Given the description of an element on the screen output the (x, y) to click on. 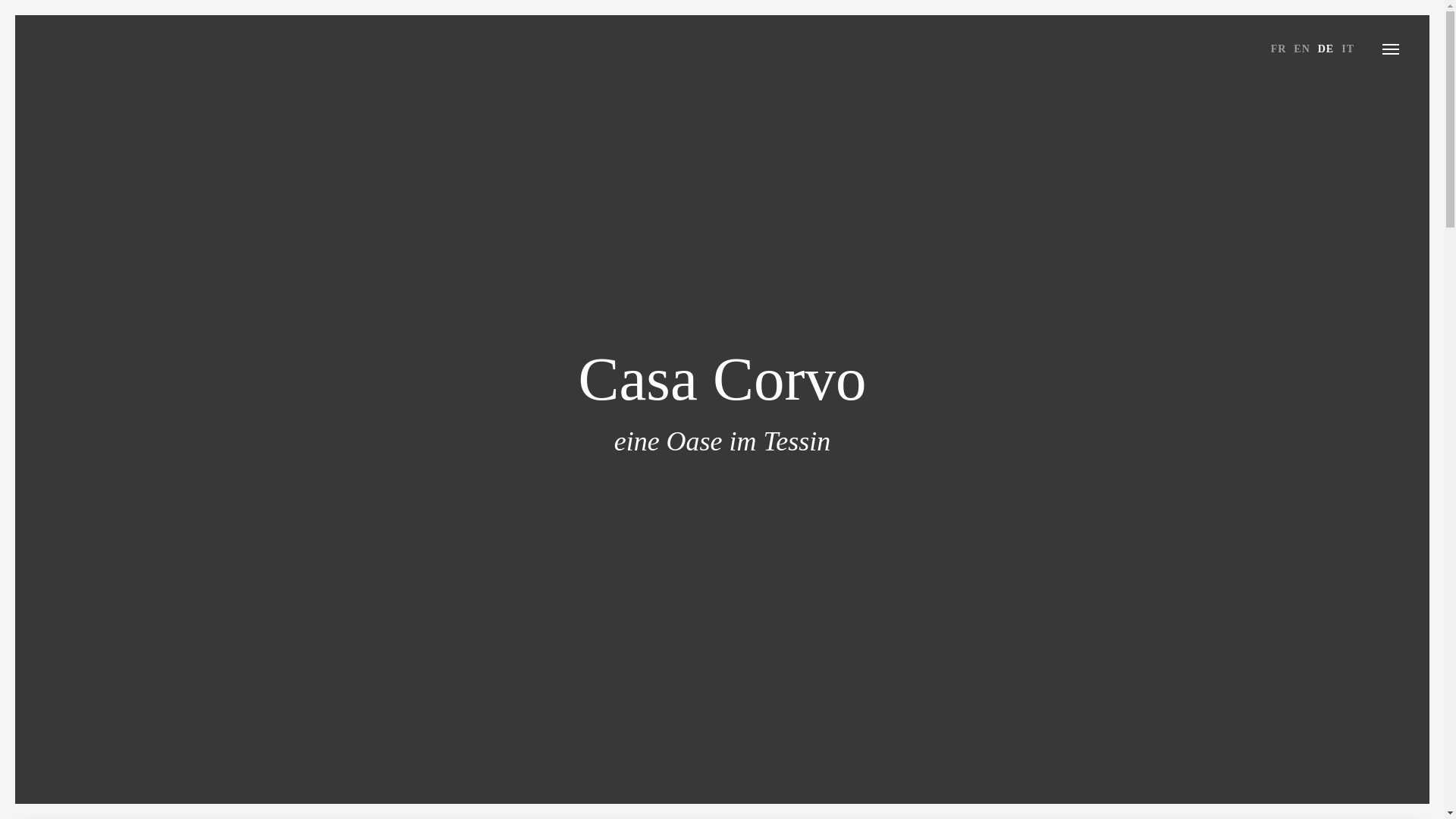
DE Element type: text (1325, 48)
CASA CORVO Element type: text (68, 49)
IT Element type: text (1347, 48)
FR Element type: text (1278, 48)
EN Element type: text (1301, 48)
